Given the description of an element on the screen output the (x, y) to click on. 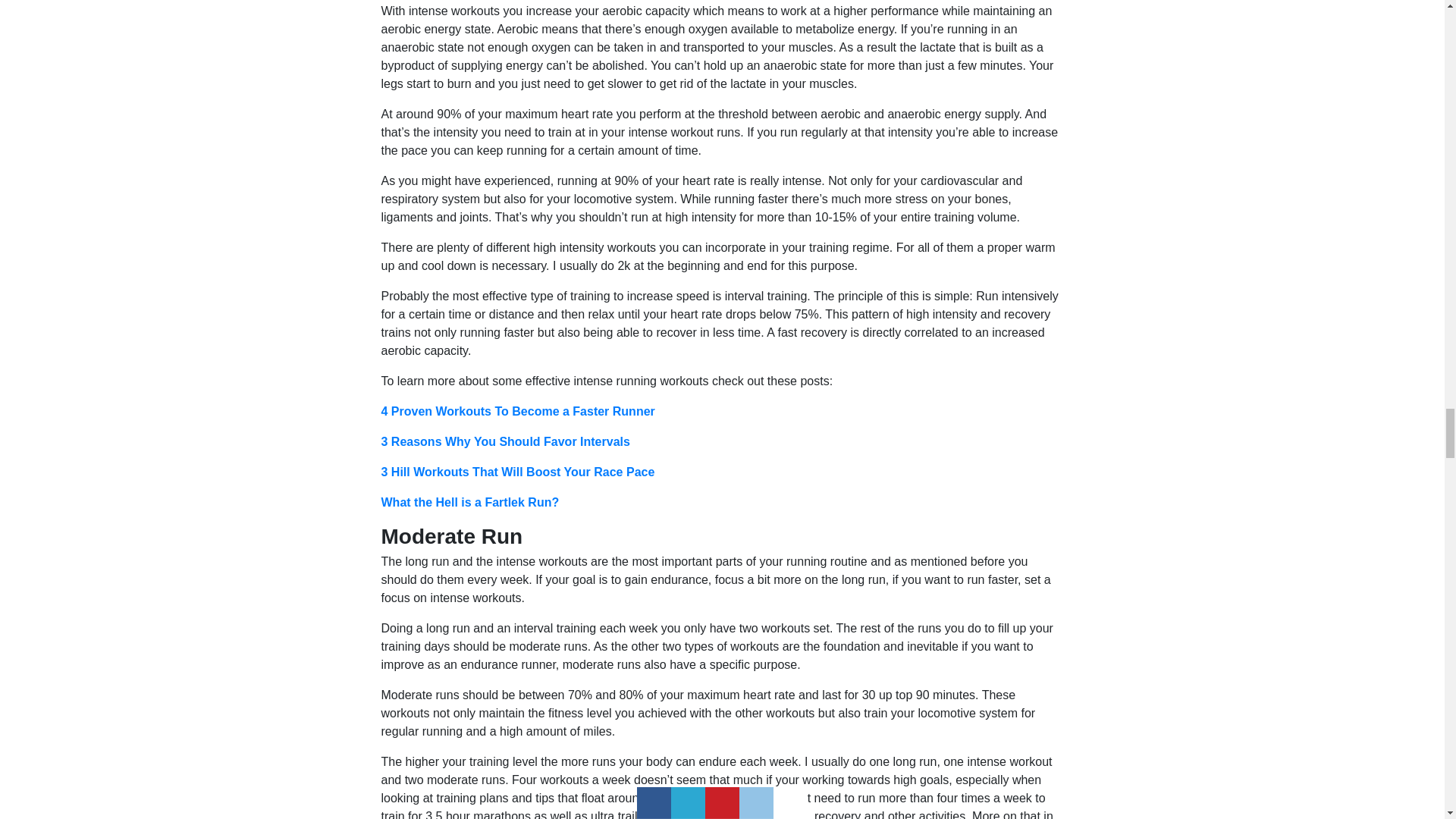
What the Hell is a Fartlek Run? (469, 502)
4 Proven Workouts (437, 410)
3 Hill Workouts That Will Boost Your Race Pace (516, 472)
3 Reasons Why You Should Favor Intervals (504, 440)
To Become a Faster Runner (574, 410)
